Given the description of an element on the screen output the (x, y) to click on. 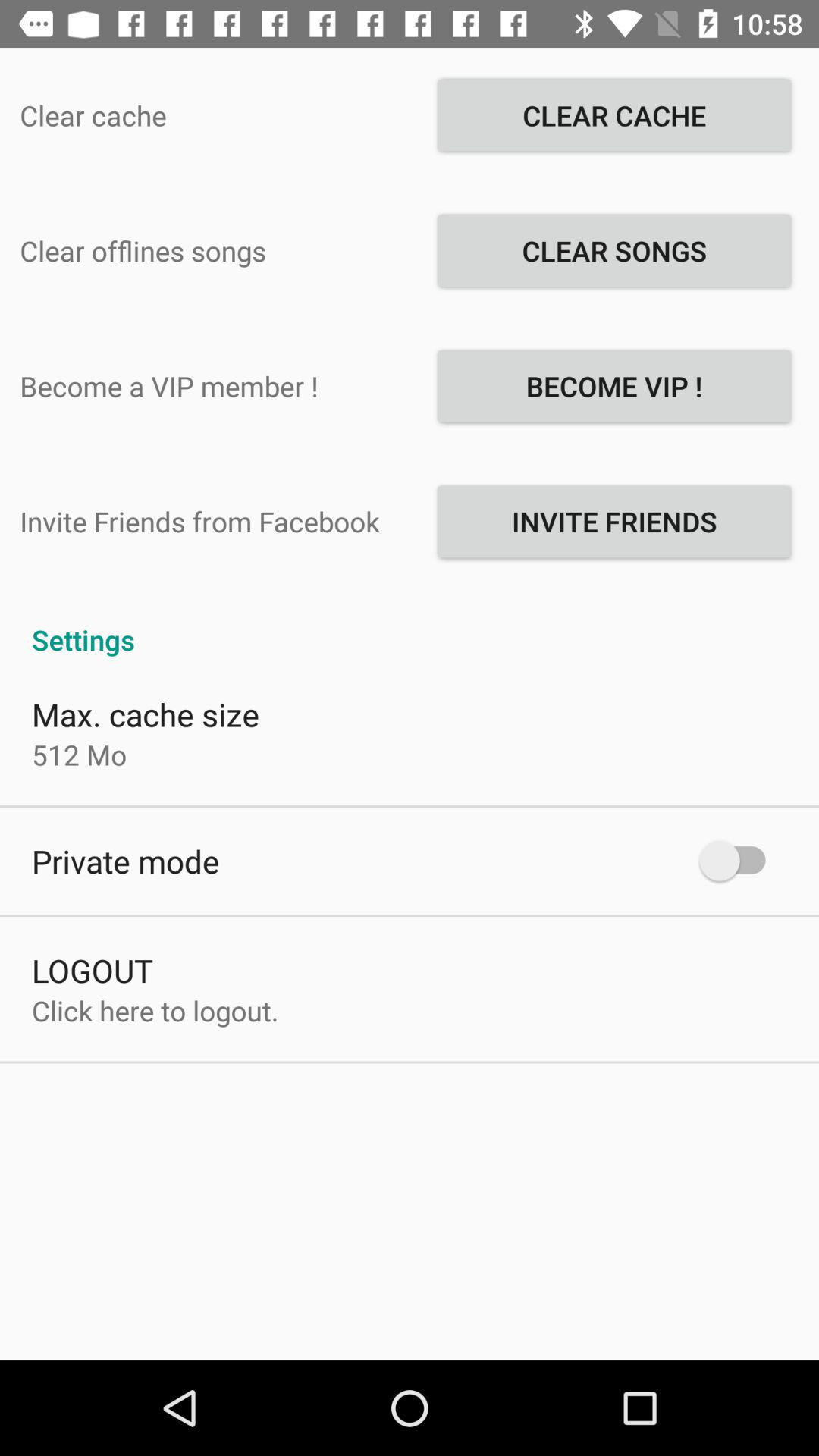
select the click here to at the bottom left corner (154, 1010)
